Given the description of an element on the screen output the (x, y) to click on. 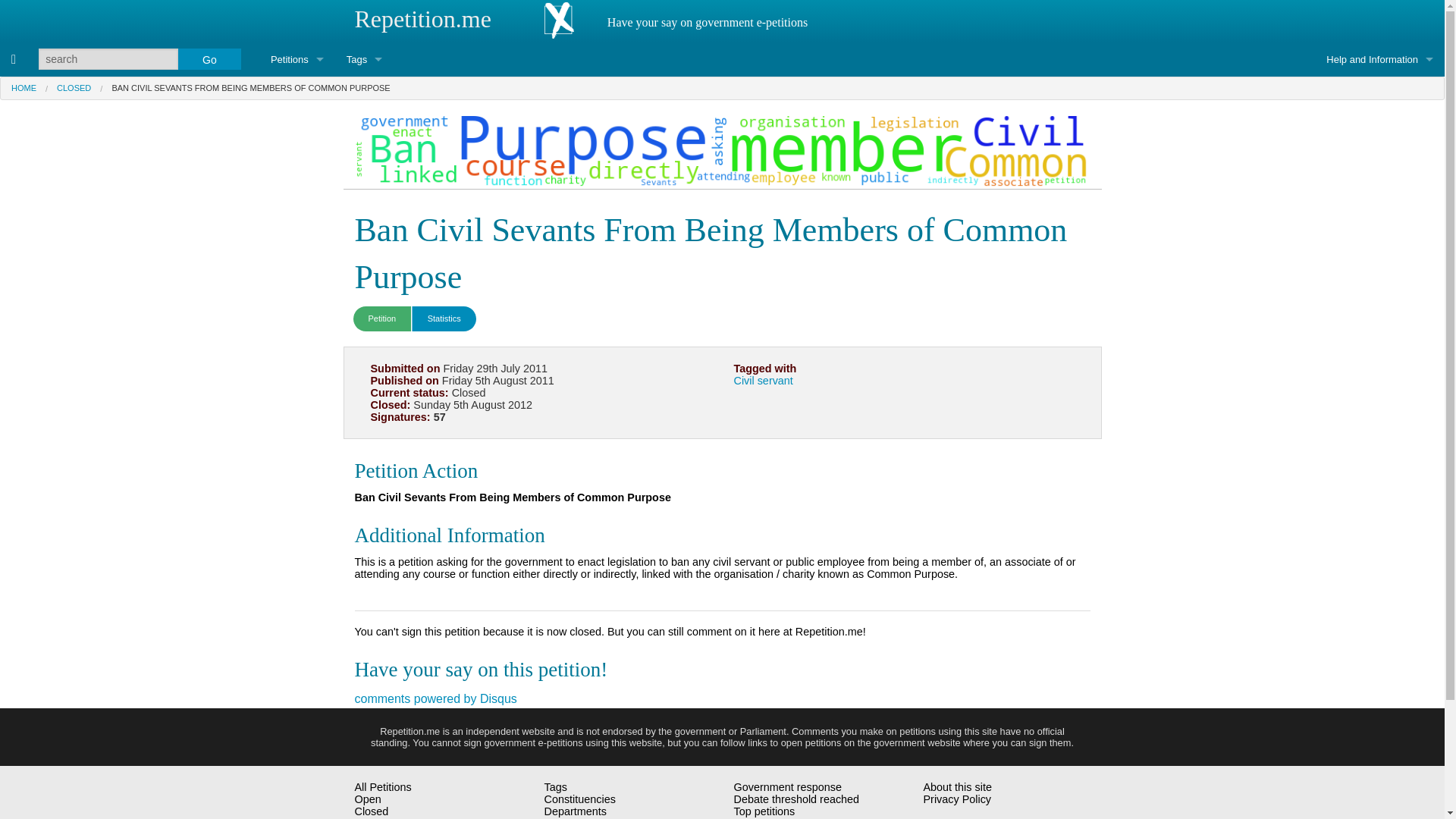
Government response (296, 229)
Go (209, 58)
comments powered by Disqus (435, 698)
Petition (382, 318)
Rejected (296, 161)
Rejected (376, 818)
HOME (23, 87)
Petitions (296, 59)
Go (209, 58)
By date (296, 195)
